Given the description of an element on the screen output the (x, y) to click on. 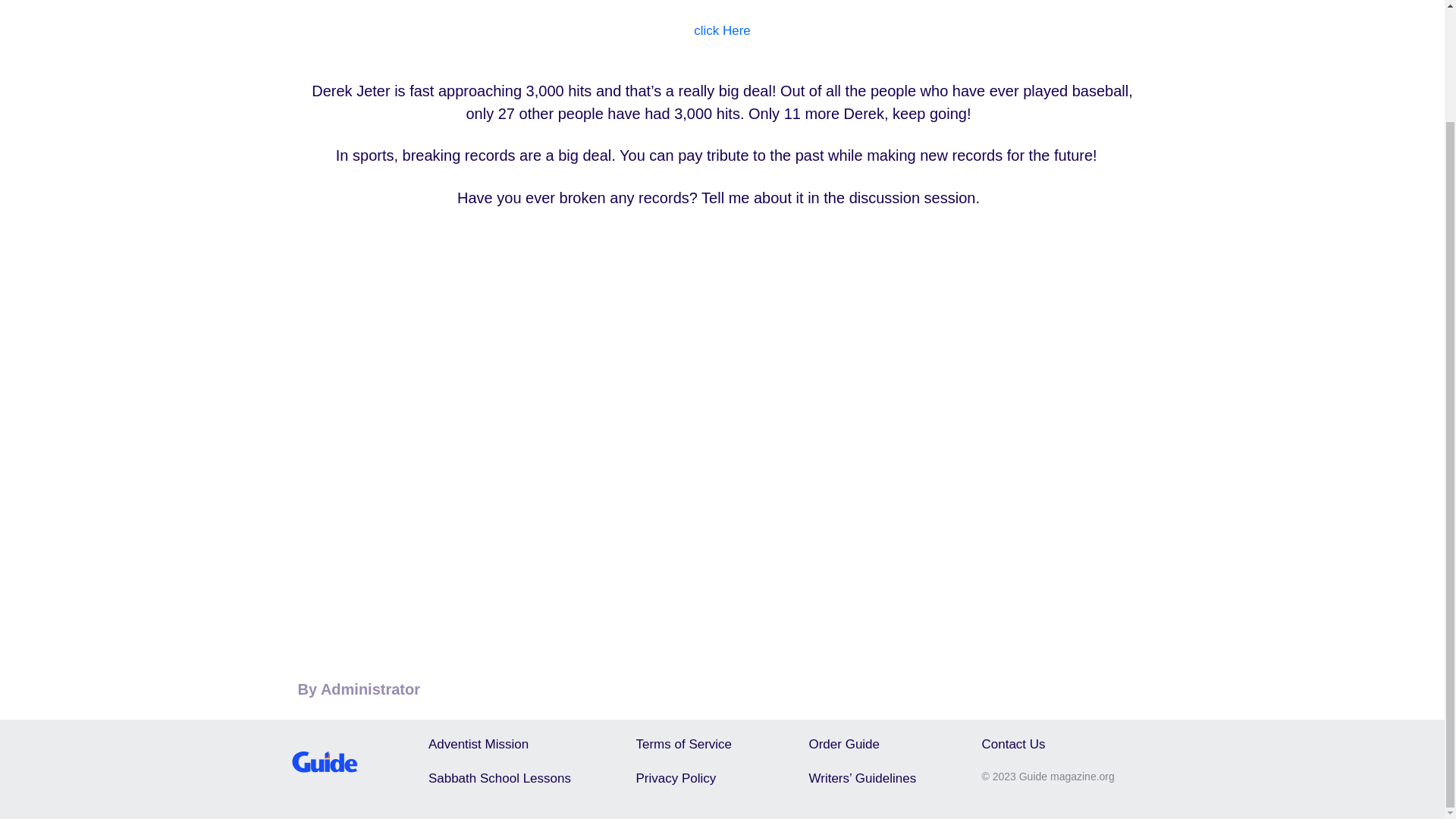
Order Guide (843, 743)
Terms of Service (683, 743)
Privacy Policy (675, 778)
Sabbath School Lessons (499, 778)
click Here (722, 30)
Adventist Mission (478, 743)
